Given the description of an element on the screen output the (x, y) to click on. 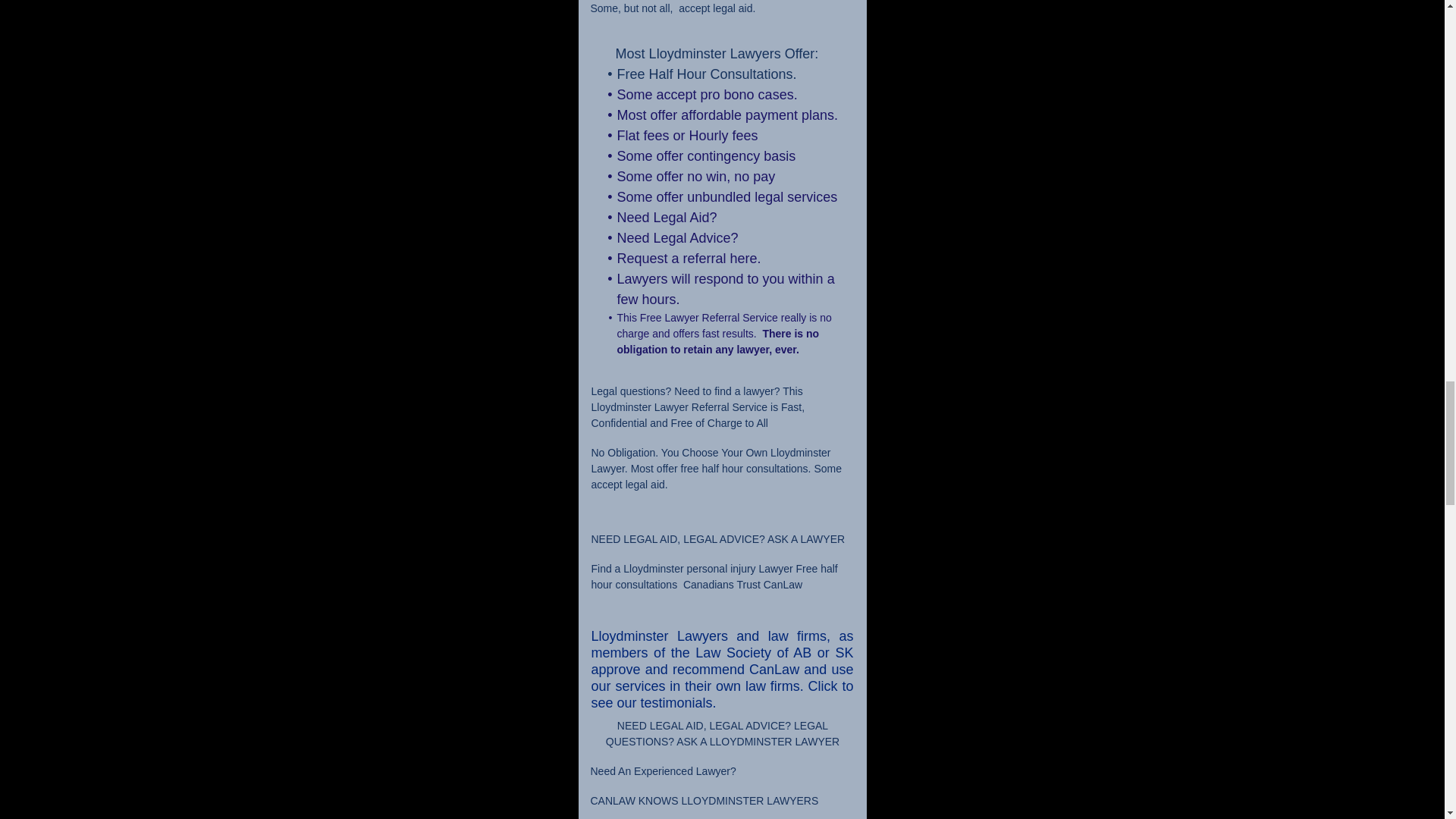
Testimonials from consumers, lawyers and suppliers (722, 677)
Testiminials from consumers, lawyers and suppliers (722, 669)
